Given the description of an element on the screen output the (x, y) to click on. 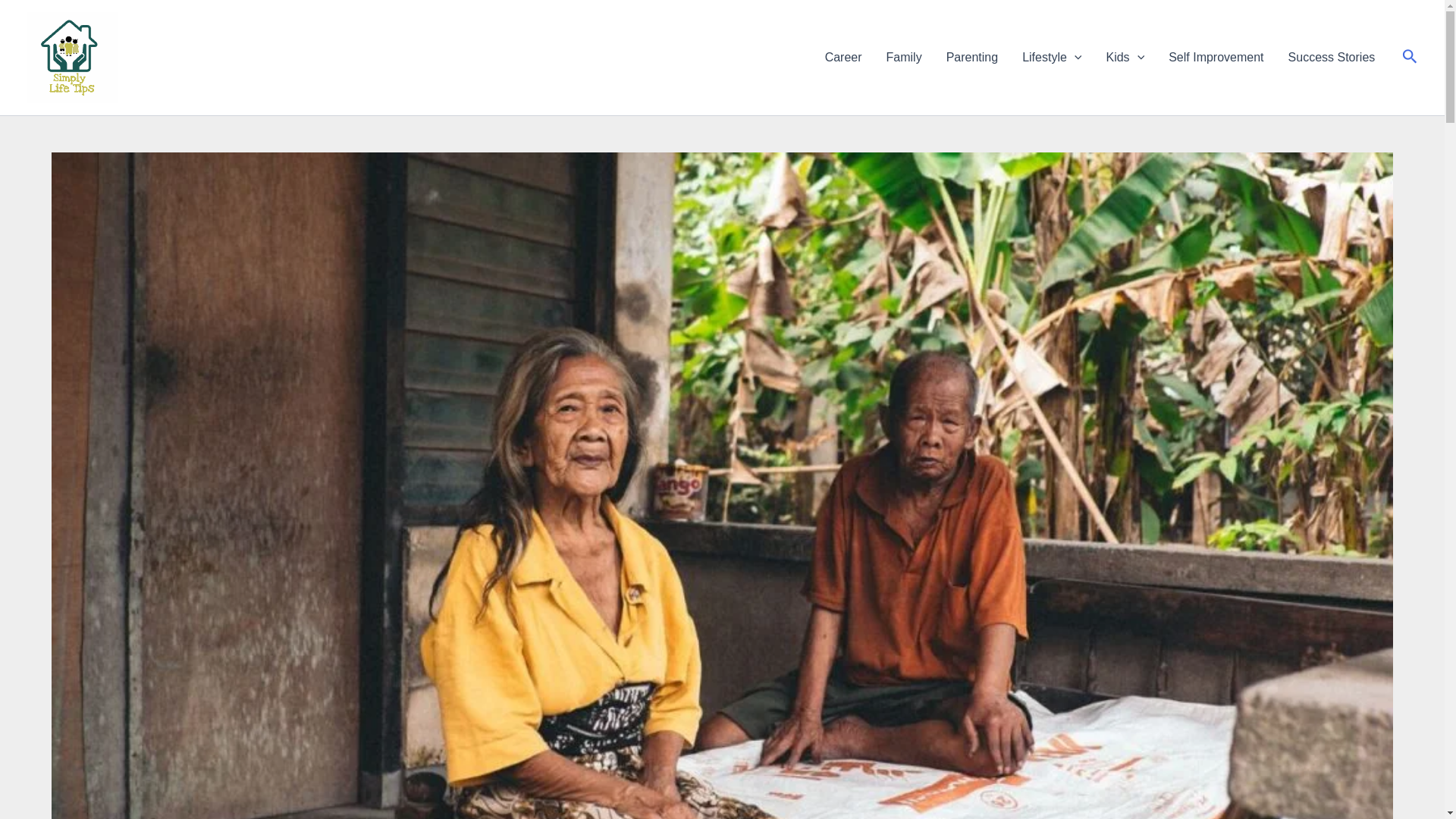
Self Improvement (1215, 57)
Family (904, 57)
Lifestyle (1051, 57)
Parenting (972, 57)
Career (843, 57)
Success Stories (1331, 57)
Kids (1124, 57)
